Given the description of an element on the screen output the (x, y) to click on. 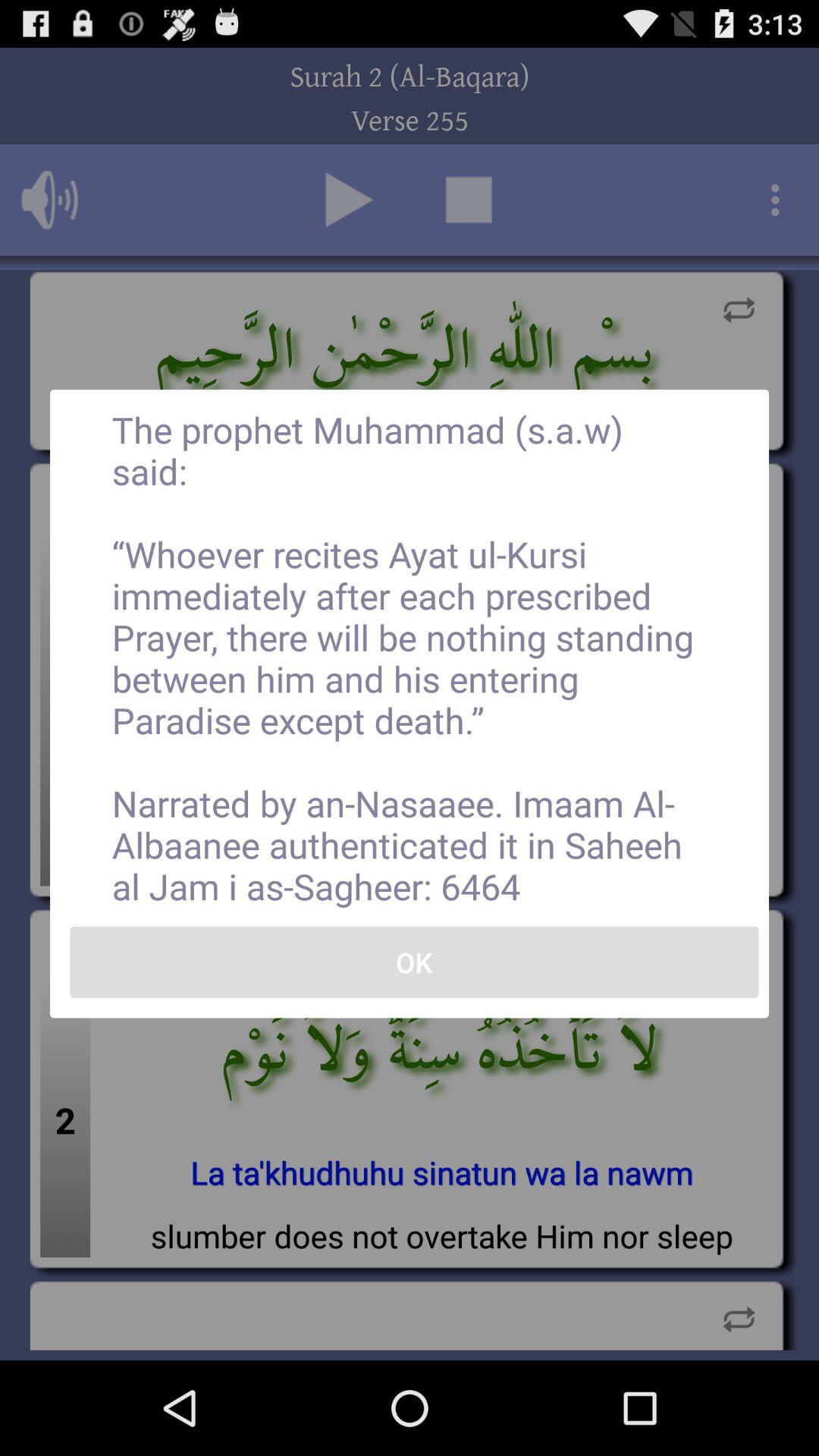
select the icon below the the prophet muhammad (413, 962)
